Given the description of an element on the screen output the (x, y) to click on. 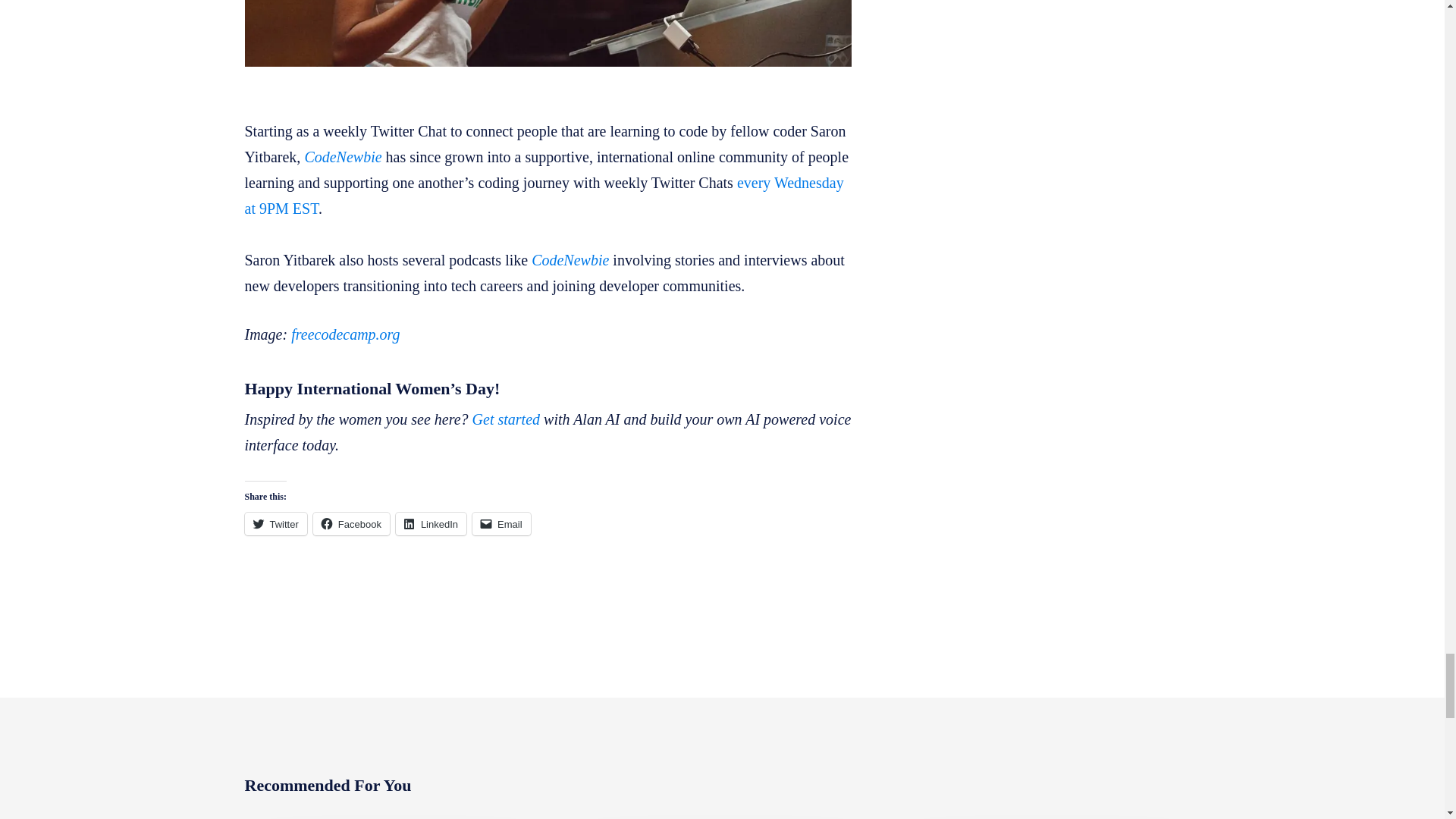
LinkedIn (430, 523)
every Wednesday at 9PM EST (543, 195)
Twitter (274, 523)
Facebook (351, 523)
freecodecamp.org (344, 334)
Email (501, 523)
CodeNewbie (569, 259)
Click to email a link to a friend (501, 523)
Click to share on Twitter (274, 523)
Get started (505, 419)
Click to share on LinkedIn (430, 523)
Click to share on Facebook (351, 523)
CodeNewbie (342, 156)
